Given the description of an element on the screen output the (x, y) to click on. 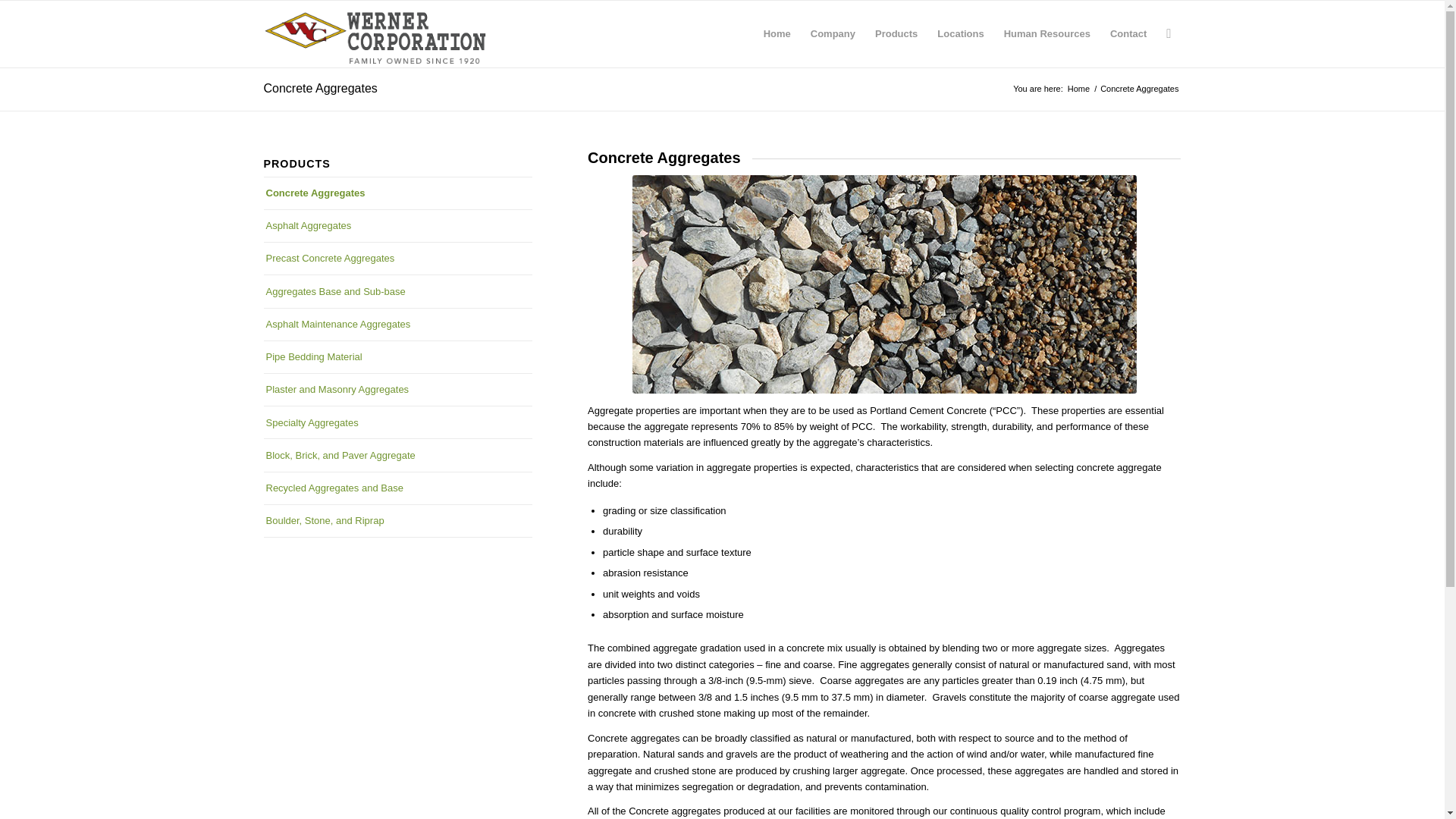
Boulder, Stone, and Riprap (397, 521)
Products (895, 33)
Concrete-Aggregates (884, 284)
Precast Concrete Aggregates (397, 258)
Home (1078, 89)
Aggregates Base and Sub-base (397, 291)
Concrete Aggregates (397, 193)
Pipe Bedding Material (397, 357)
Plaster and Masonry Aggregates (397, 389)
Asphalt Maintenance Aggregates (397, 324)
Human Resources (1047, 33)
Permanent Link: Concrete Aggregates (320, 88)
Block, Brick, and Paver Aggregate (397, 454)
Asphalt Aggregates (397, 225)
Locations (959, 33)
